Given the description of an element on the screen output the (x, y) to click on. 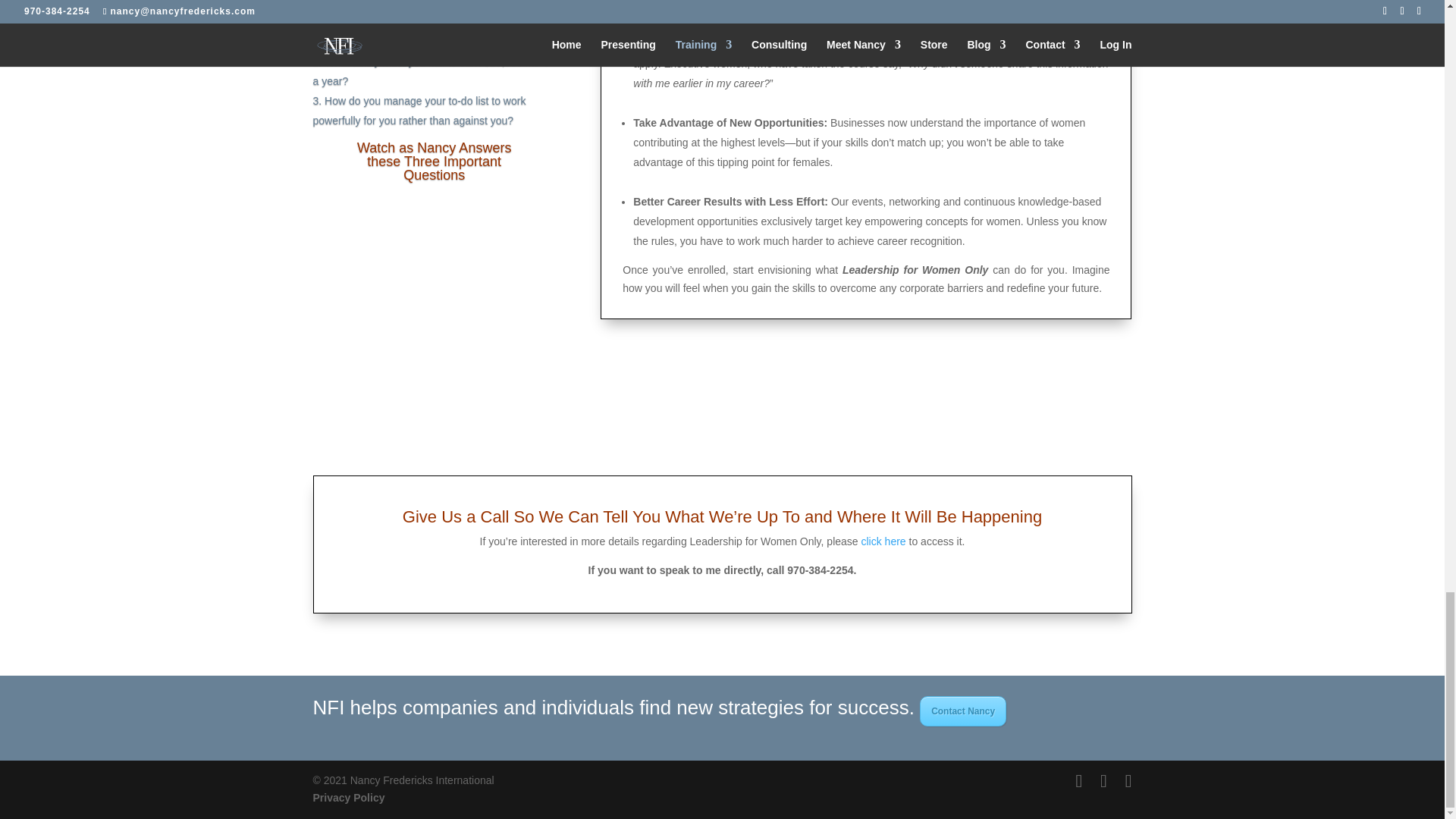
Privacy Policy (348, 797)
click here (883, 541)
Contact Nancy (963, 711)
